Given the description of an element on the screen output the (x, y) to click on. 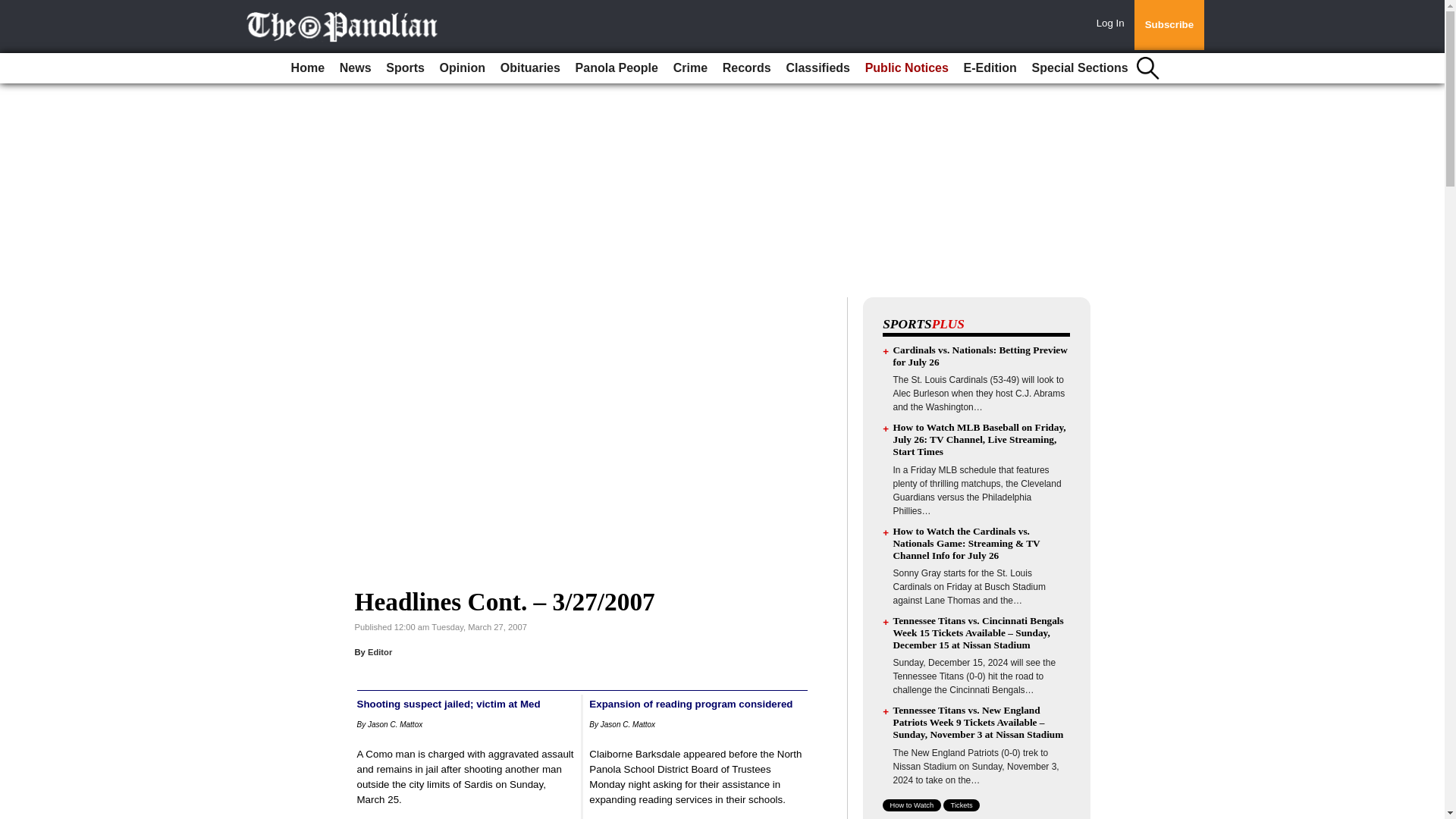
Records (746, 68)
Opinion (462, 68)
Public Notices (907, 68)
E-Edition (990, 68)
Special Sections (1080, 68)
How to Watch (911, 805)
Crime (689, 68)
Cardinals vs. Nationals: Betting Preview for July 26 (979, 355)
Tickets (961, 805)
Sports (405, 68)
Editor (379, 651)
Obituaries (530, 68)
Home (307, 68)
Classifieds (817, 68)
